Given the description of an element on the screen output the (x, y) to click on. 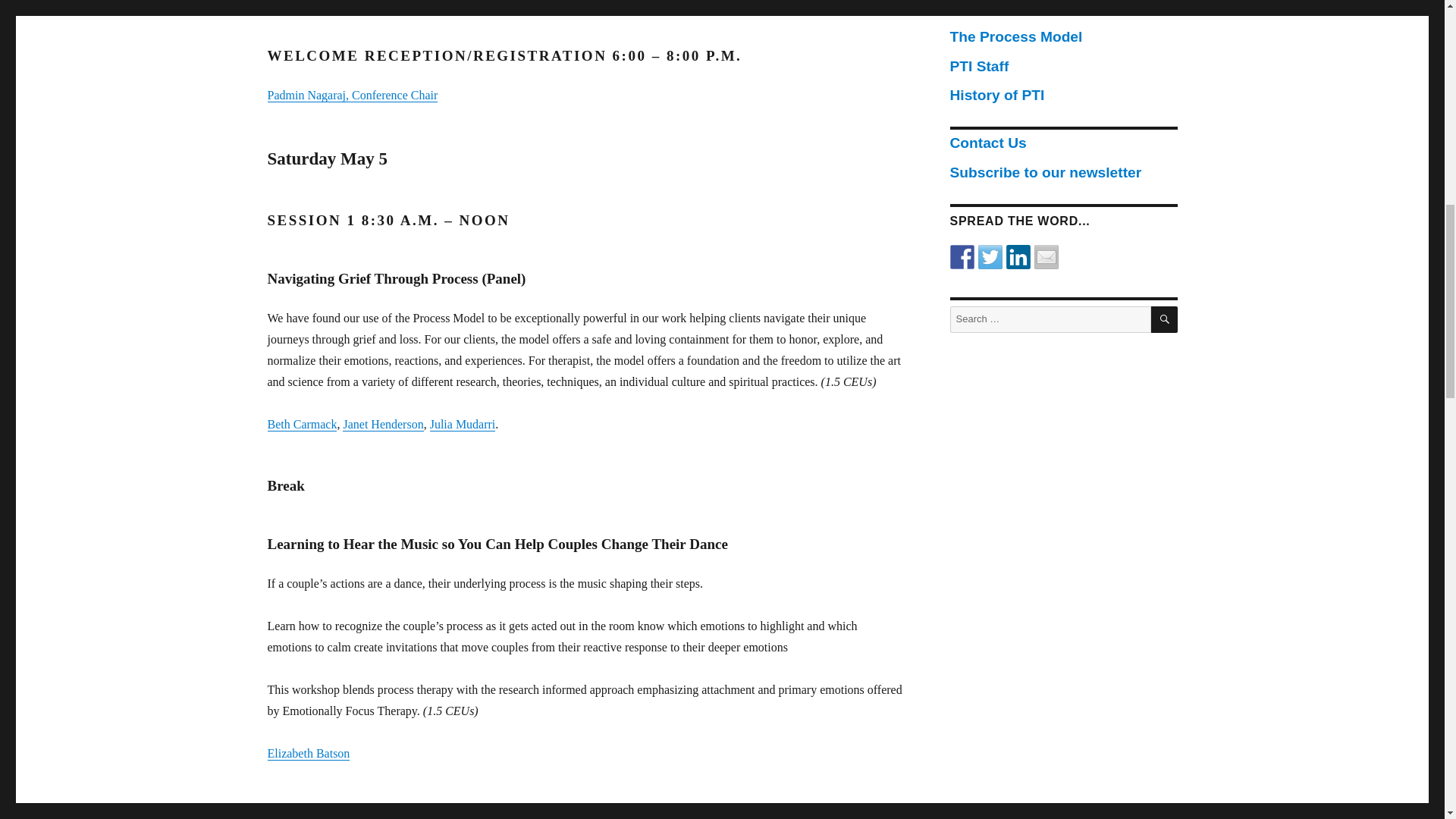
Contact Us (987, 142)
Padmin Nagaraj, Conference Chair (352, 94)
Share on Linkedin (1017, 256)
Janet Henderson (382, 423)
Share on Twitter (990, 256)
History of PTI (996, 94)
Julia Mudarri (462, 423)
Our Vision and Mission (1029, 7)
Share by email (1045, 256)
Share on Facebook (961, 256)
